Given the description of an element on the screen output the (x, y) to click on. 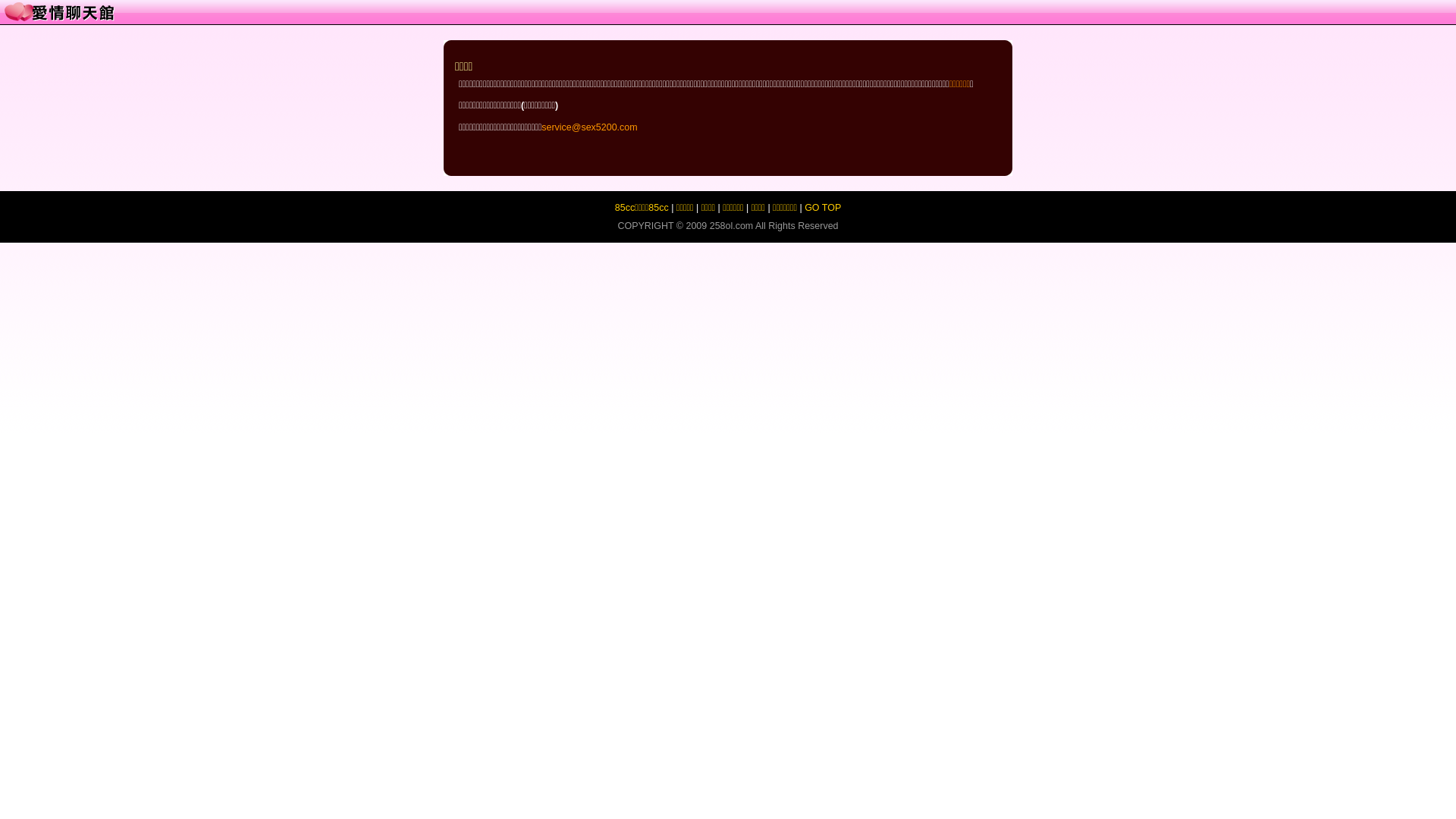
258ol.com Element type: text (731, 225)
service@sex5200.com Element type: text (589, 127)
GO TOP Element type: text (822, 207)
